Given the description of an element on the screen output the (x, y) to click on. 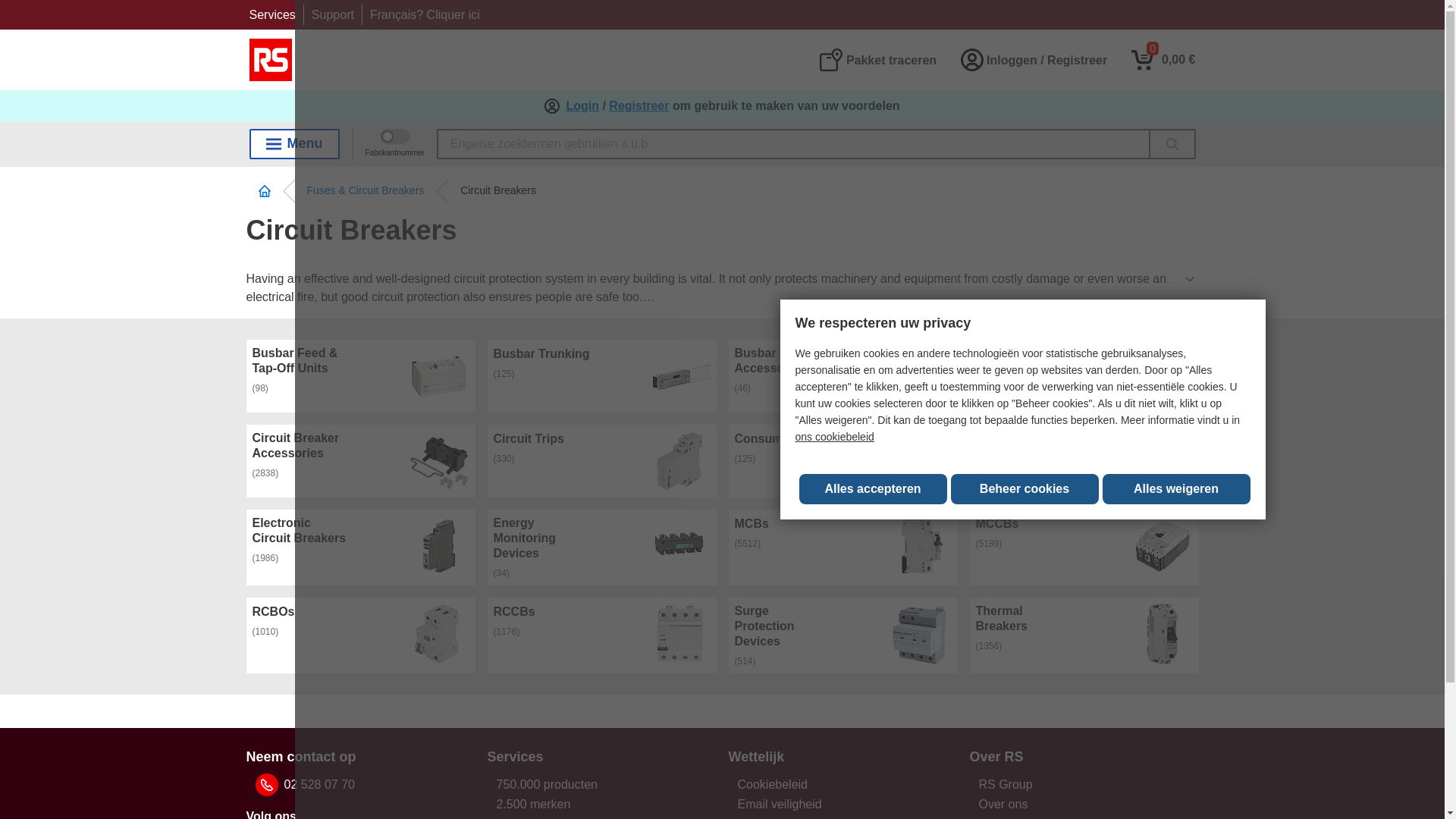
Menu (293, 143)
0 (1163, 59)
Login (582, 105)
Registreer (638, 105)
Pakket traceren (877, 59)
Services (271, 14)
Support (332, 14)
